Given the description of an element on the screen output the (x, y) to click on. 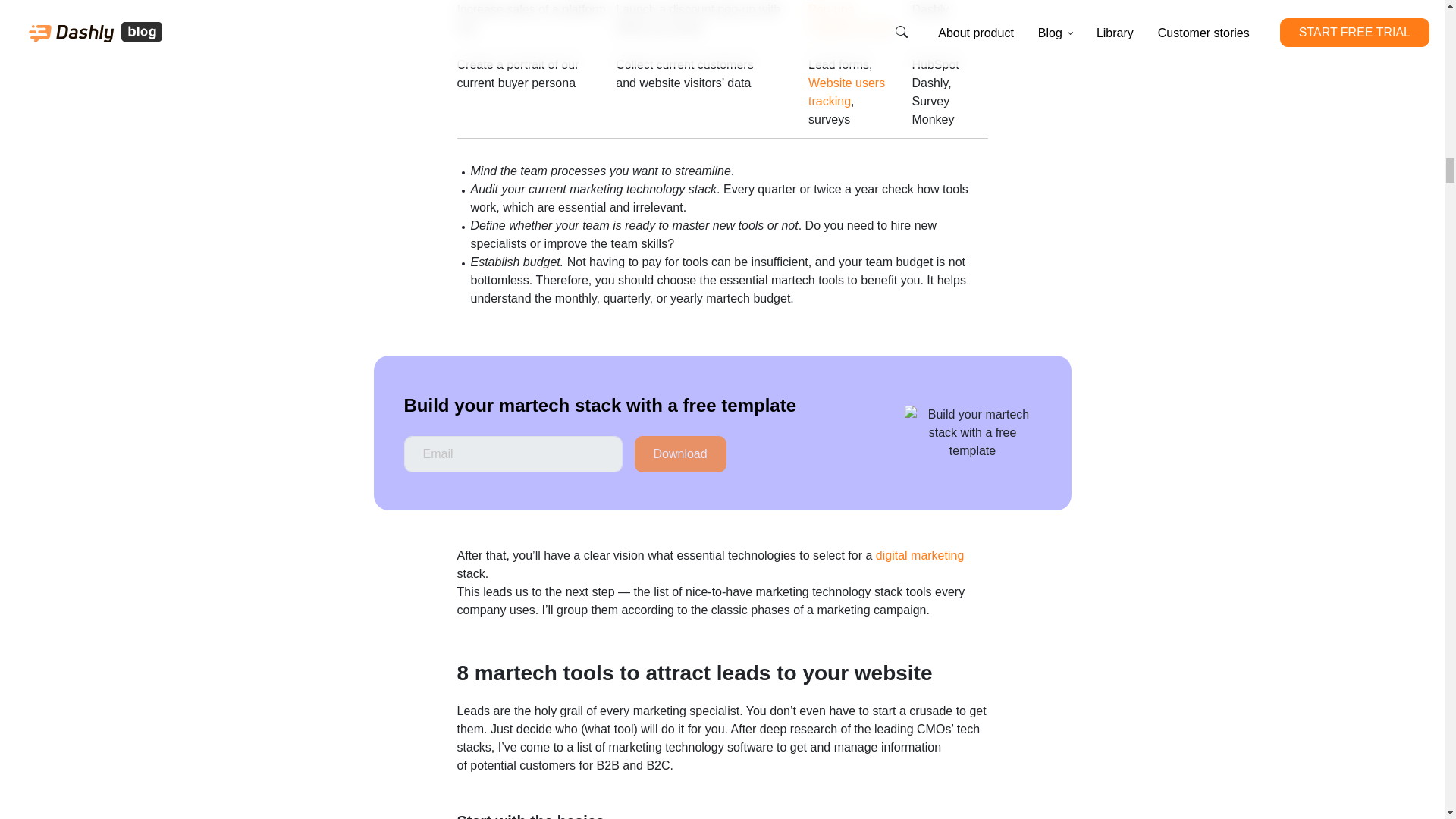
Download (679, 453)
